Given the description of an element on the screen output the (x, y) to click on. 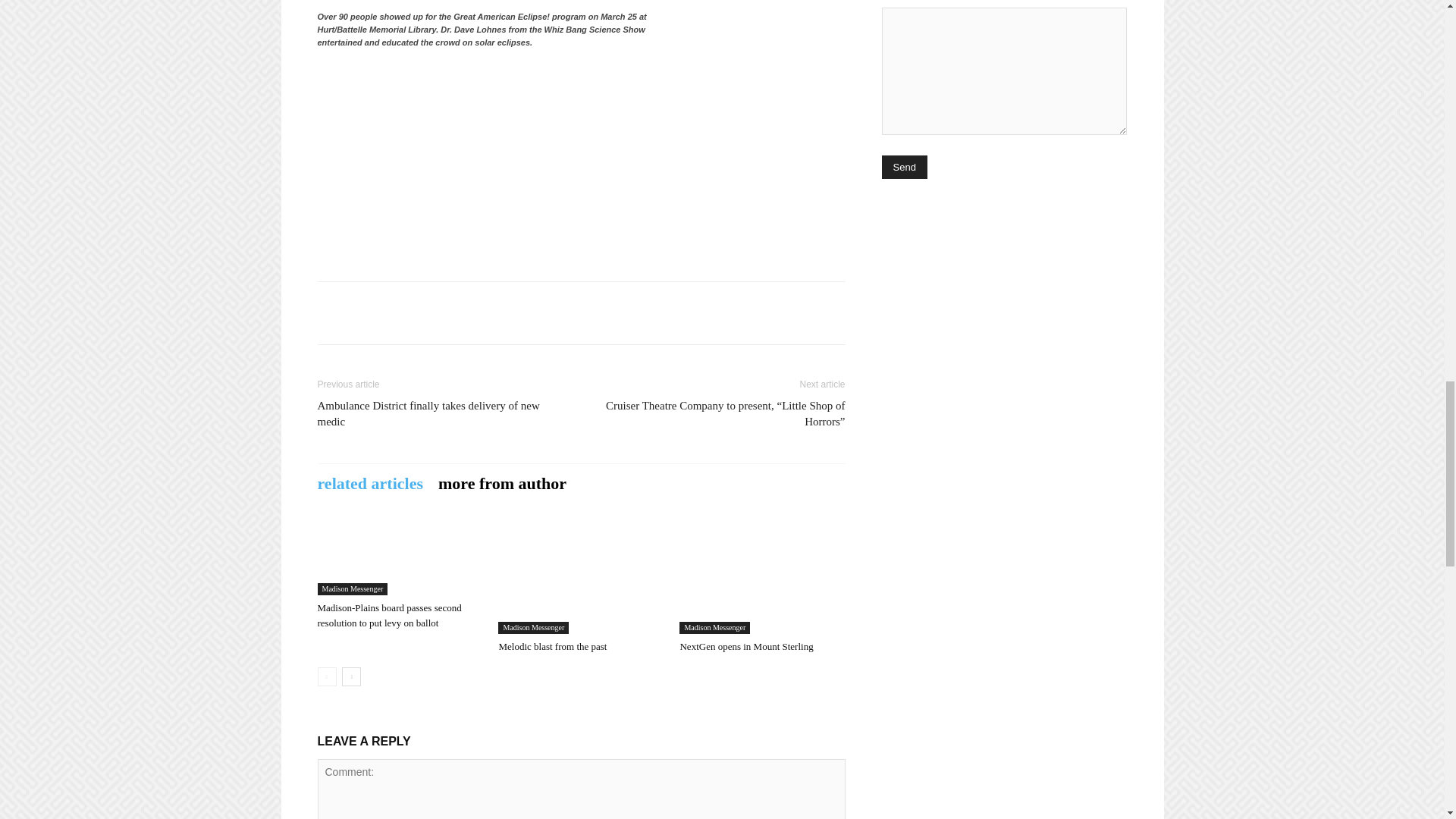
Melodic blast from the past (580, 576)
Send (903, 167)
